Given the description of an element on the screen output the (x, y) to click on. 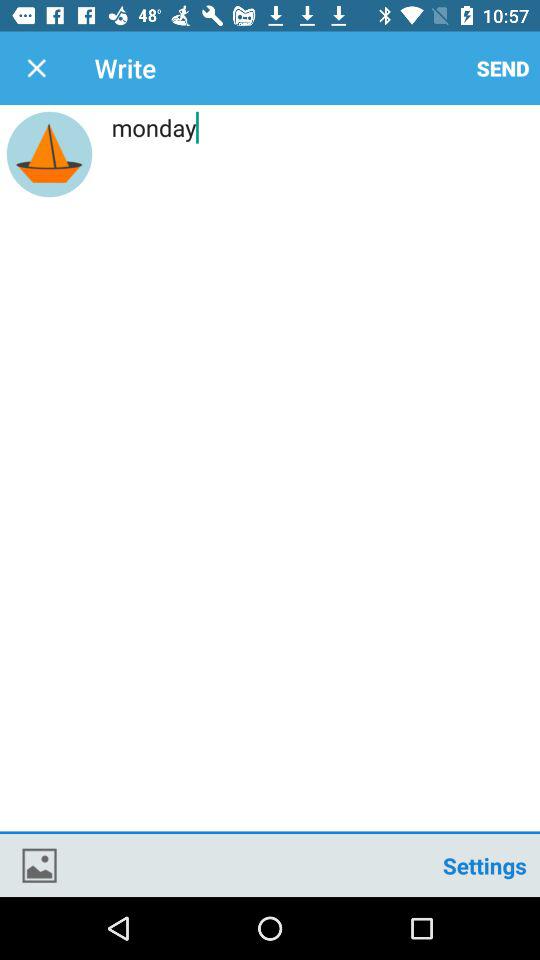
turn on the item next to write item (503, 67)
